Given the description of an element on the screen output the (x, y) to click on. 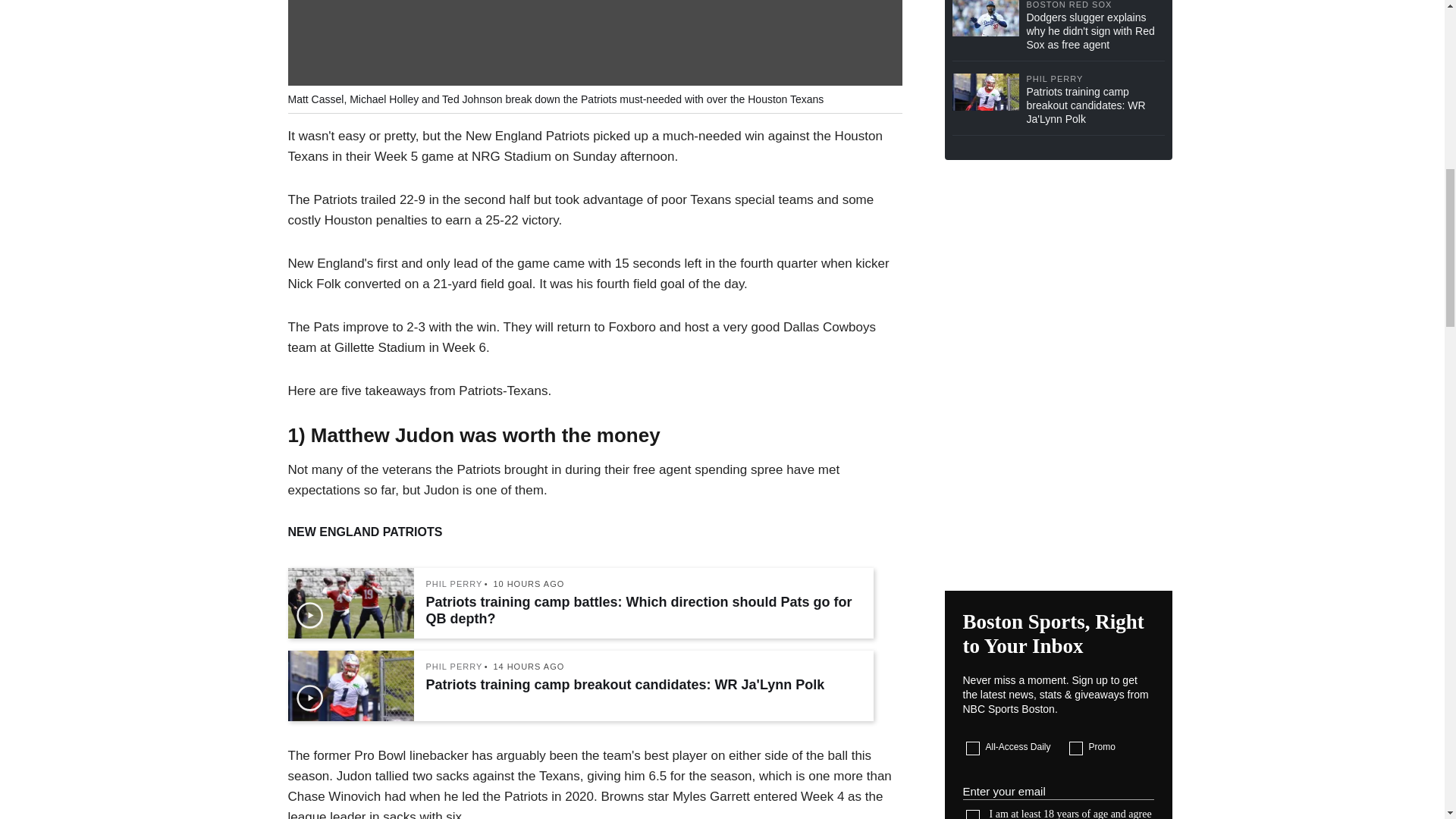
PHIL PERRY (454, 583)
on (972, 814)
PHIL PERRY (454, 666)
Patriots training camp breakout candidates: WR Ja'Lynn Polk (642, 684)
3rd party ad content (1058, 477)
on (1075, 748)
on (972, 748)
3rd party ad content (1058, 269)
